Given the description of an element on the screen output the (x, y) to click on. 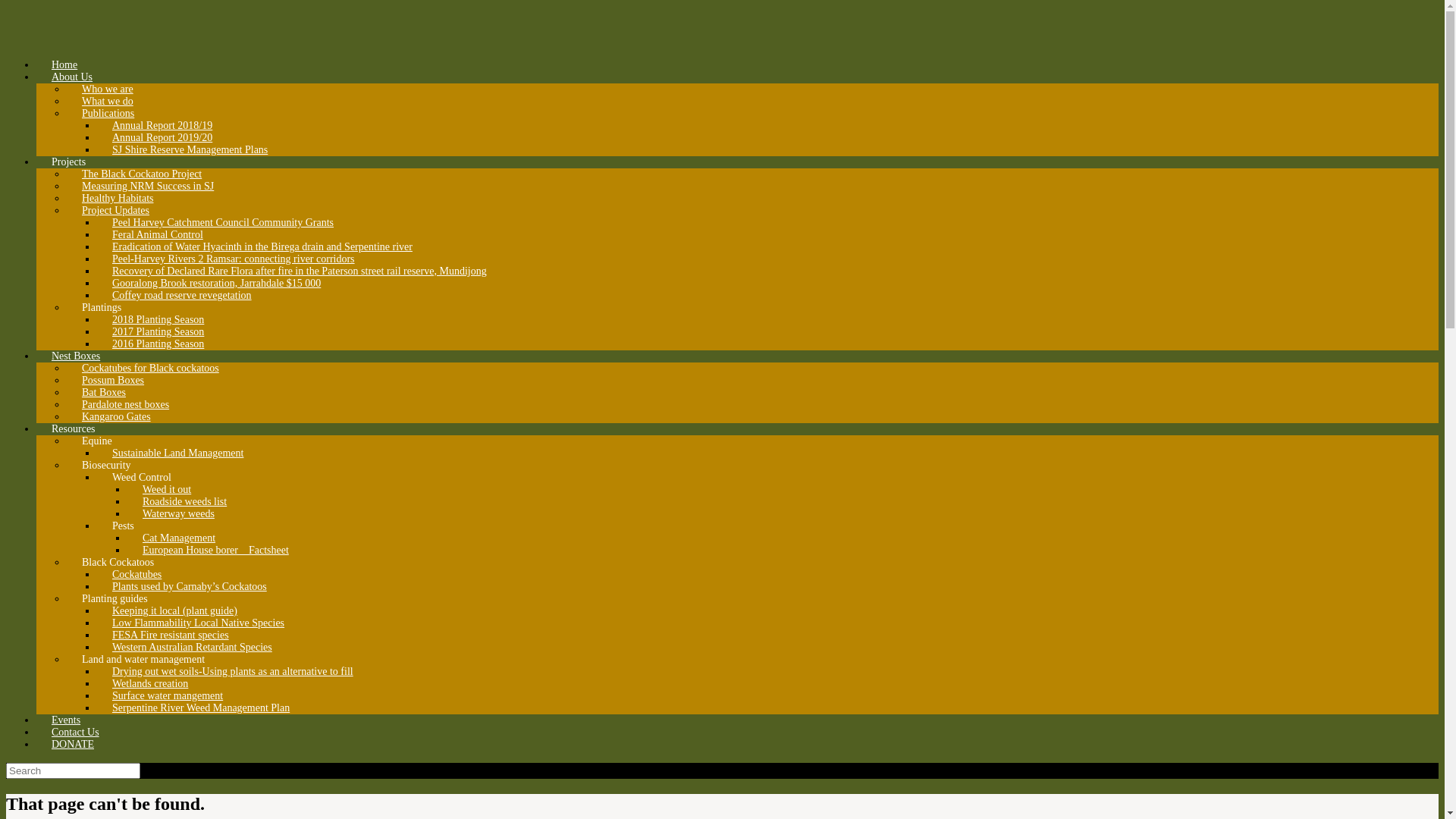
Planting guides Element type: text (114, 598)
Bat Boxes Element type: text (103, 392)
Skip to content Element type: text (5, 5)
2017 Planting Season Element type: text (158, 331)
SJ Shire Reserve Management Plans Element type: text (189, 149)
Wetlands creation Element type: text (150, 683)
Publications Element type: text (107, 113)
Weed it out Element type: text (166, 489)
Coffey road reserve revegetation Element type: text (181, 295)
Roadside weeds list Element type: text (184, 501)
Land and water management Element type: text (142, 659)
Measuring NRM Success in SJ Element type: text (147, 185)
Biosecurity Element type: text (106, 464)
Western Australian Retardant Species Element type: text (192, 646)
Pardalote nest boxes Element type: text (125, 404)
Feral Animal Control Element type: text (157, 234)
Peel-Harvey Rivers 2 Ramsar: connecting river corridors Element type: text (233, 258)
Keeping it local (plant guide) Element type: text (174, 610)
Cockatubes for Black cockatoos Element type: text (150, 367)
Annual Report 2018/19 Element type: text (162, 125)
Cat Management Element type: text (178, 537)
Black Cockatoos Element type: text (117, 562)
Resources Element type: text (73, 428)
2018 Planting Season Element type: text (158, 319)
Surface water mangement Element type: text (167, 695)
Kangaroo Gates Element type: text (116, 416)
Plantings Element type: text (101, 307)
Serpentine River Weed Management Plan Element type: text (200, 707)
FESA Fire resistant species Element type: text (170, 634)
Possum Boxes Element type: text (112, 380)
Gooralong Brook restoration, Jarrahdale $15 000 Element type: text (216, 282)
What we do Element type: text (107, 100)
Projects Element type: text (68, 161)
Drying out wet soils-Using plants as an alternative to fill Element type: text (232, 671)
Peel Harvey Catchment Council Community Grants Element type: text (222, 222)
DONATE Element type: text (72, 744)
Home Element type: text (64, 64)
Low Flammability Local Native Species Element type: text (198, 622)
Pests Element type: text (123, 525)
Cockatubes Element type: text (136, 574)
Sustainable Land Management Element type: text (177, 452)
The Black Cockatoo Project Element type: text (141, 173)
Healthy Habitats Element type: text (117, 198)
Weed Control Element type: text (141, 477)
Events Element type: text (65, 719)
European House borer _ Factsheet Element type: text (215, 549)
2016 Planting Season Element type: text (158, 343)
Who we are Element type: text (107, 88)
Contact Us Element type: text (75, 731)
Nest Boxes Element type: text (75, 355)
Annual Report 2019/20 Element type: text (162, 137)
Waterway weeds Element type: text (178, 513)
Project Updates Element type: text (115, 210)
About Us Element type: text (71, 76)
Equine Element type: text (96, 440)
